Given the description of an element on the screen output the (x, y) to click on. 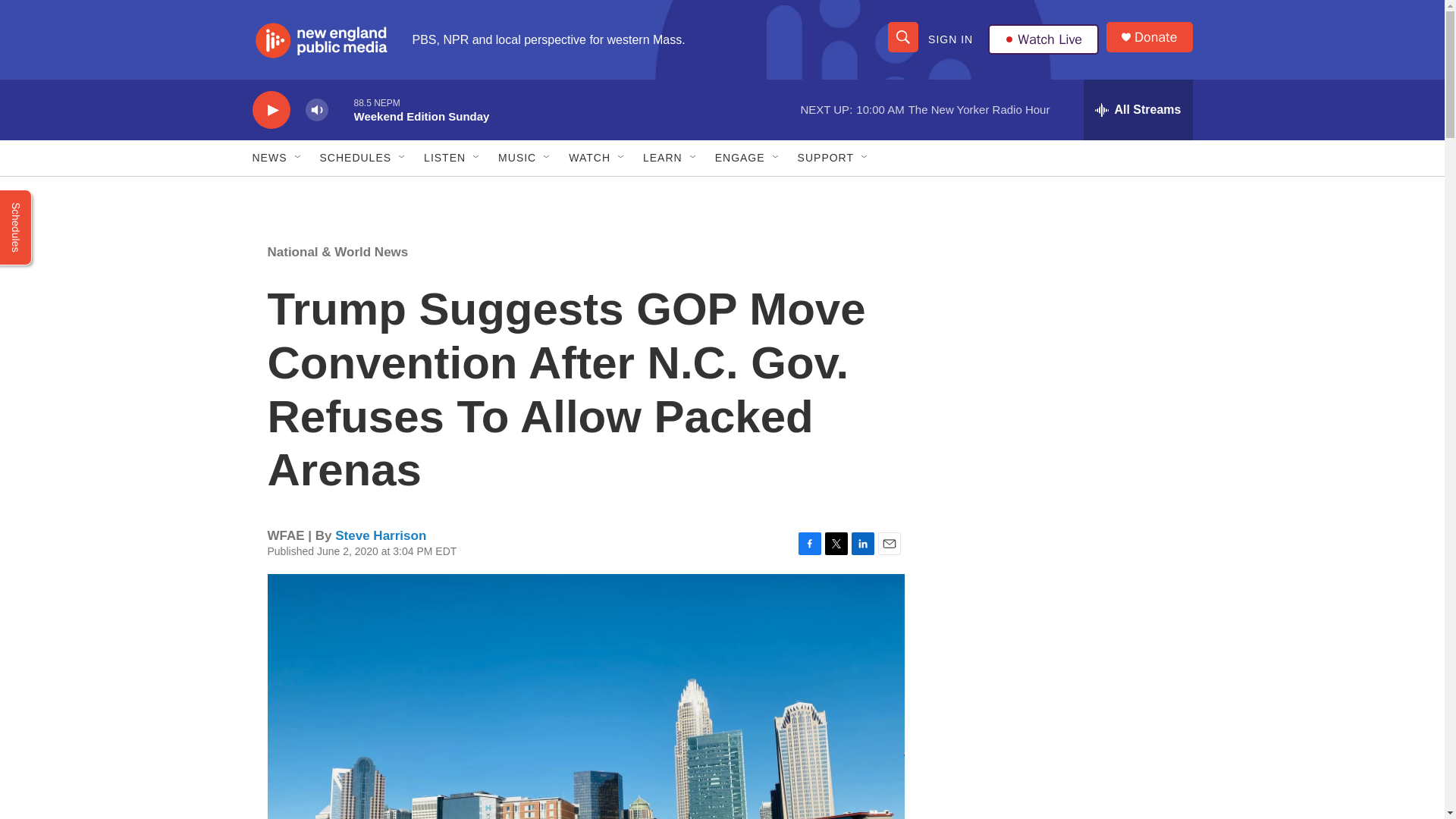
3rd party ad content (1062, 331)
